Given the description of an element on the screen output the (x, y) to click on. 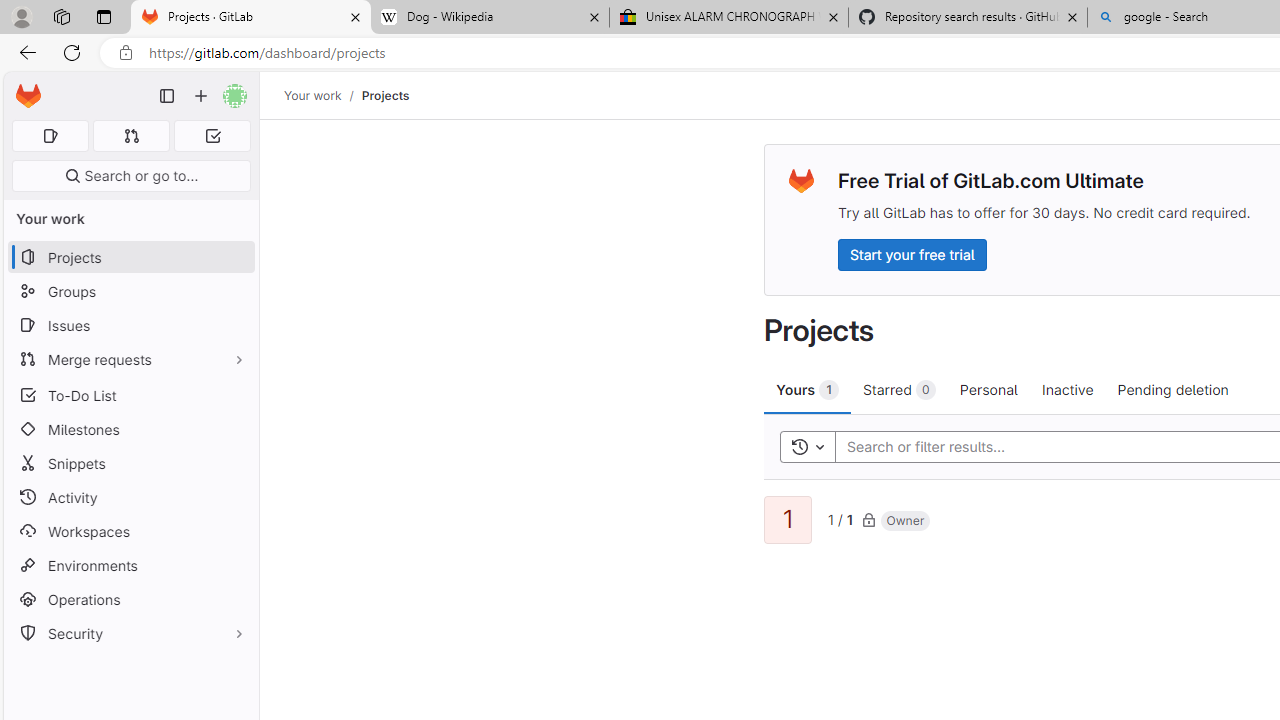
Milestones (130, 429)
Groups (130, 291)
Homepage (27, 96)
To-Do List (130, 394)
1 / 1 (840, 518)
Activity (130, 497)
Your work (312, 95)
Operations (130, 599)
Security (130, 633)
